Given the description of an element on the screen output the (x, y) to click on. 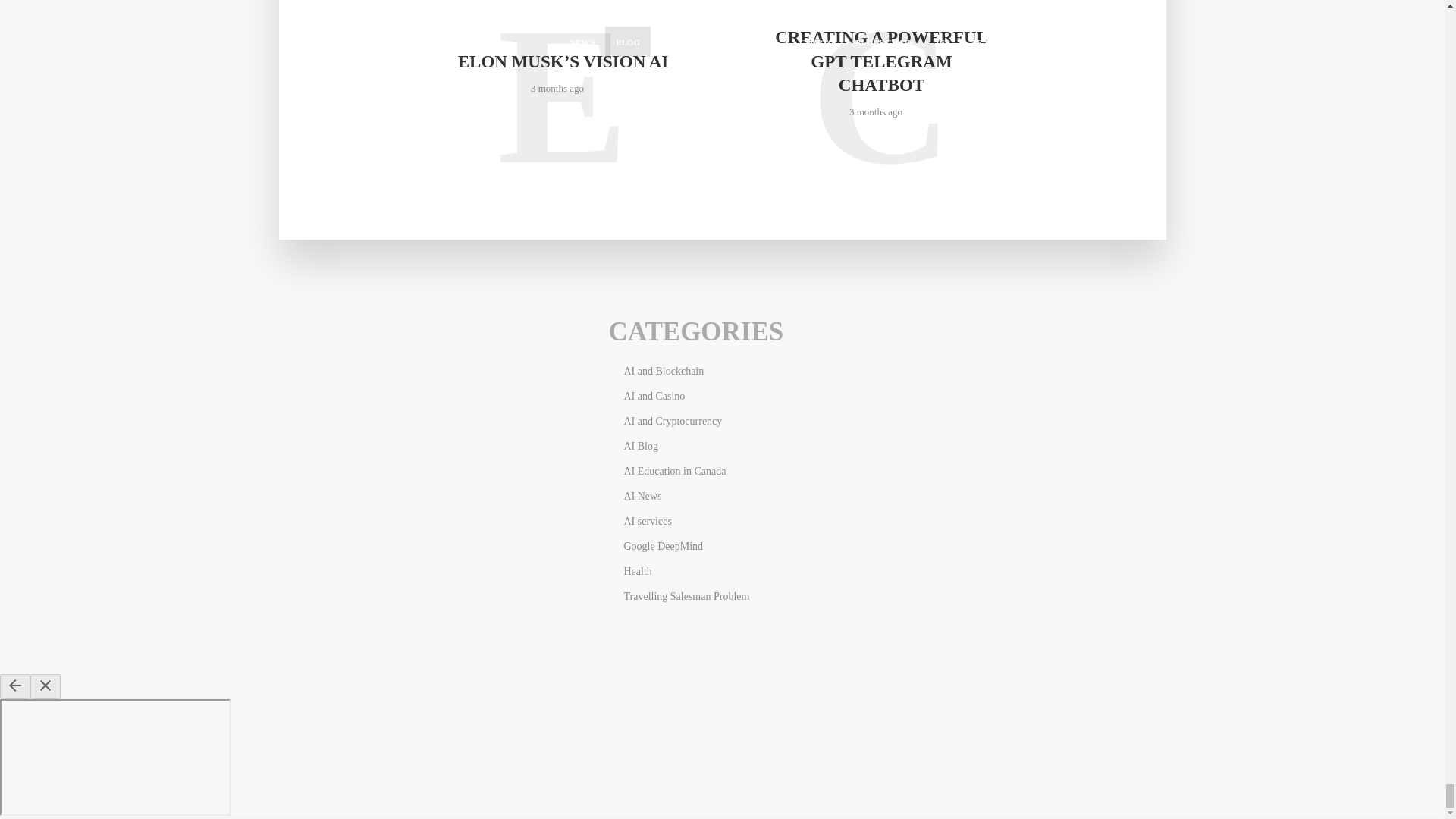
CREATING A POWERFUL GPT TELEGRAM CHATBOT (880, 60)
AI and Casino (653, 396)
AI and Blockchain (663, 370)
